Given the description of an element on the screen output the (x, y) to click on. 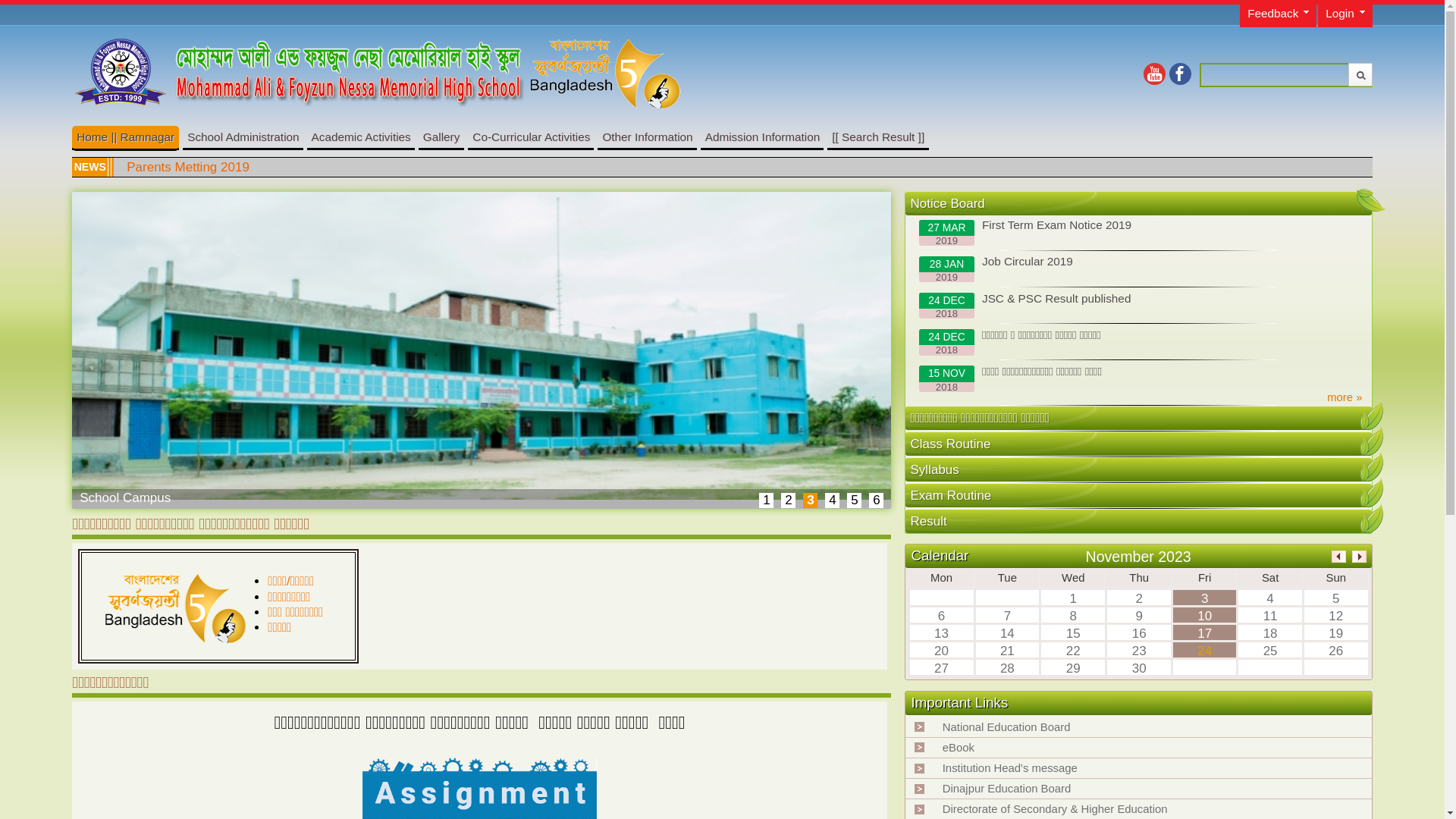
Home || Ramnagar Element type: text (125, 136)
[[ Search Result ]] Element type: text (877, 136)
1 Element type: text (766, 500)
Academic Activities Element type: text (360, 136)
Co-Curricular Activities Element type: text (530, 136)
Dinajpur Education Board Element type: text (1006, 788)
2 Element type: text (788, 500)
Gallery Element type: text (441, 136)
School Administration Element type: text (242, 136)
27 MAR
2019
First Term Exam Notice 2019 Element type: text (1138, 232)
5 Element type: text (854, 500)
Feedback Element type: text (1277, 14)
eBook Element type: text (958, 747)
Login Element type: text (1344, 14)
3 Element type: text (810, 500)
6 Element type: text (876, 500)
  Element type: text (1367, 203)
24 DEC
2018
JSC & PSC Result published Element type: text (1138, 306)
  Element type: text (1371, 414)
Admission Information Element type: text (762, 136)
Directorate of Secondary & Higher Education Element type: text (1054, 809)
  Element type: text (1371, 517)
  Element type: text (1371, 440)
Other Information Element type: text (646, 136)
4 Element type: text (832, 500)
  Element type: text (1371, 491)
  Element type: text (1371, 466)
Submit Element type: text (1360, 74)
Institution Head's message Element type: text (1009, 768)
National Education Board Element type: text (1006, 727)
28 JAN
2019
Job Circular 2019 Element type: text (1138, 269)
